Given the description of an element on the screen output the (x, y) to click on. 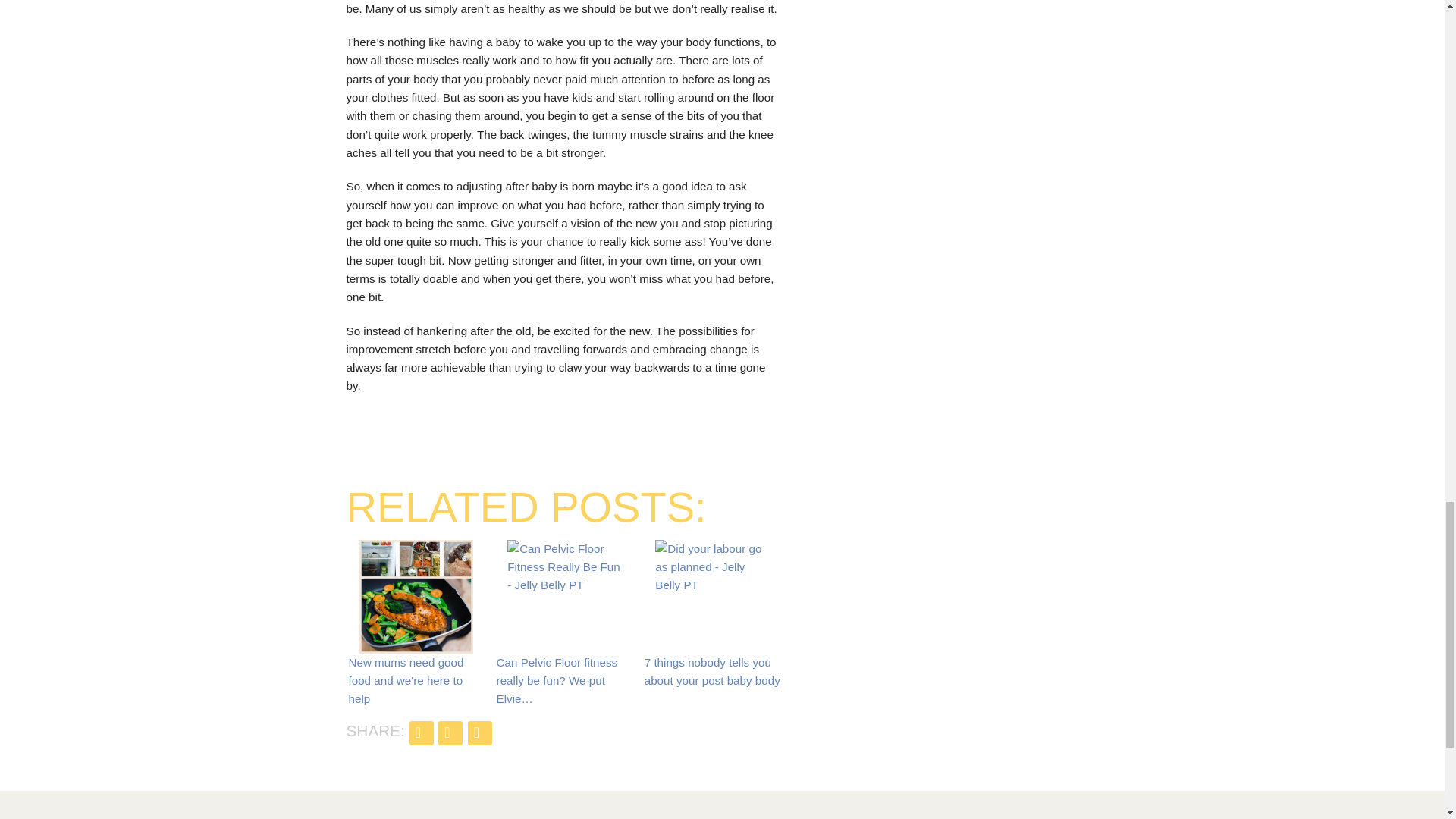
New mums need good food and we're here to help (416, 596)
7 things nobody tells you about your post baby body (711, 577)
